Given the description of an element on the screen output the (x, y) to click on. 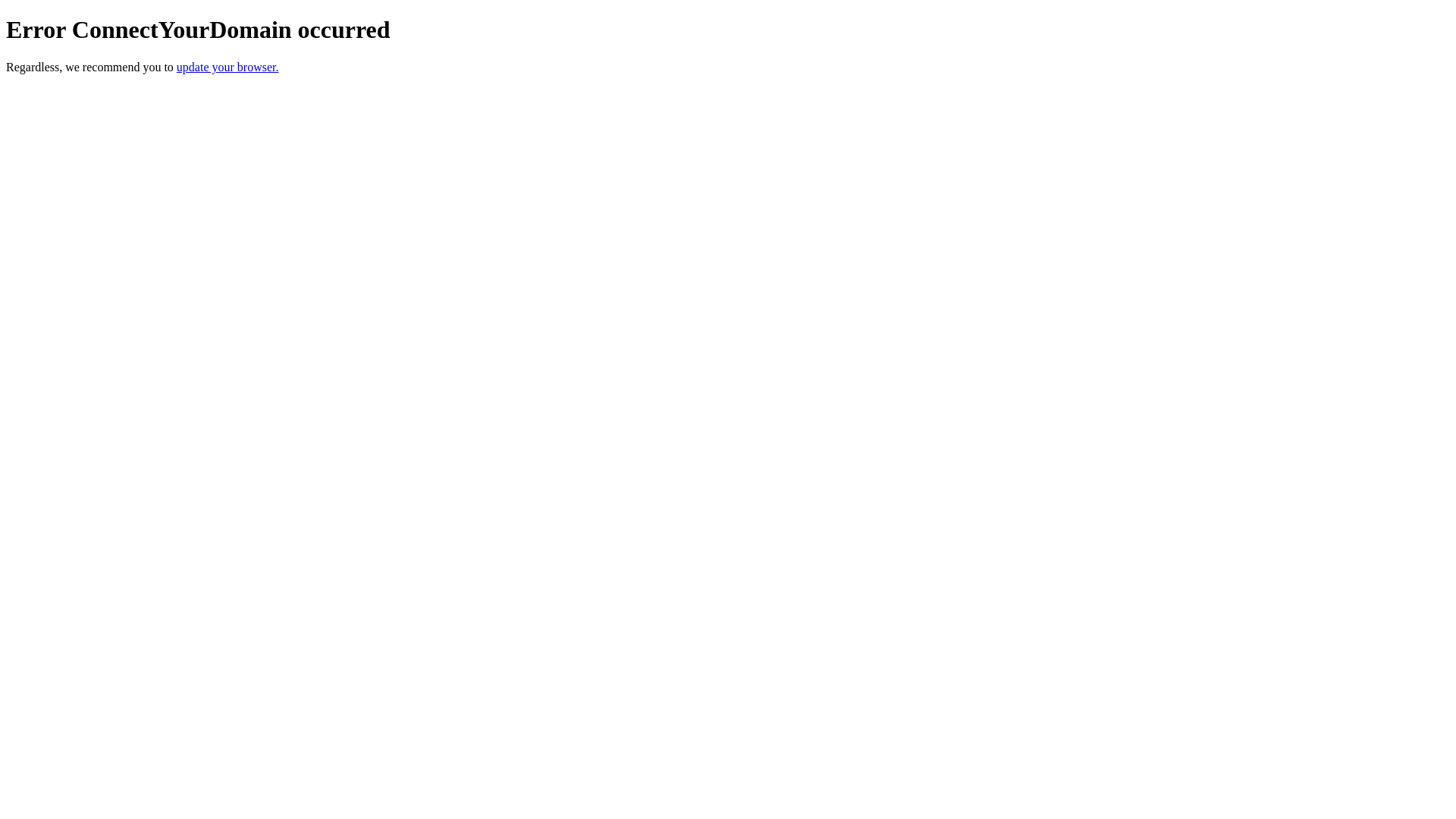
update your browser. Element type: text (227, 66)
